Given the description of an element on the screen output the (x, y) to click on. 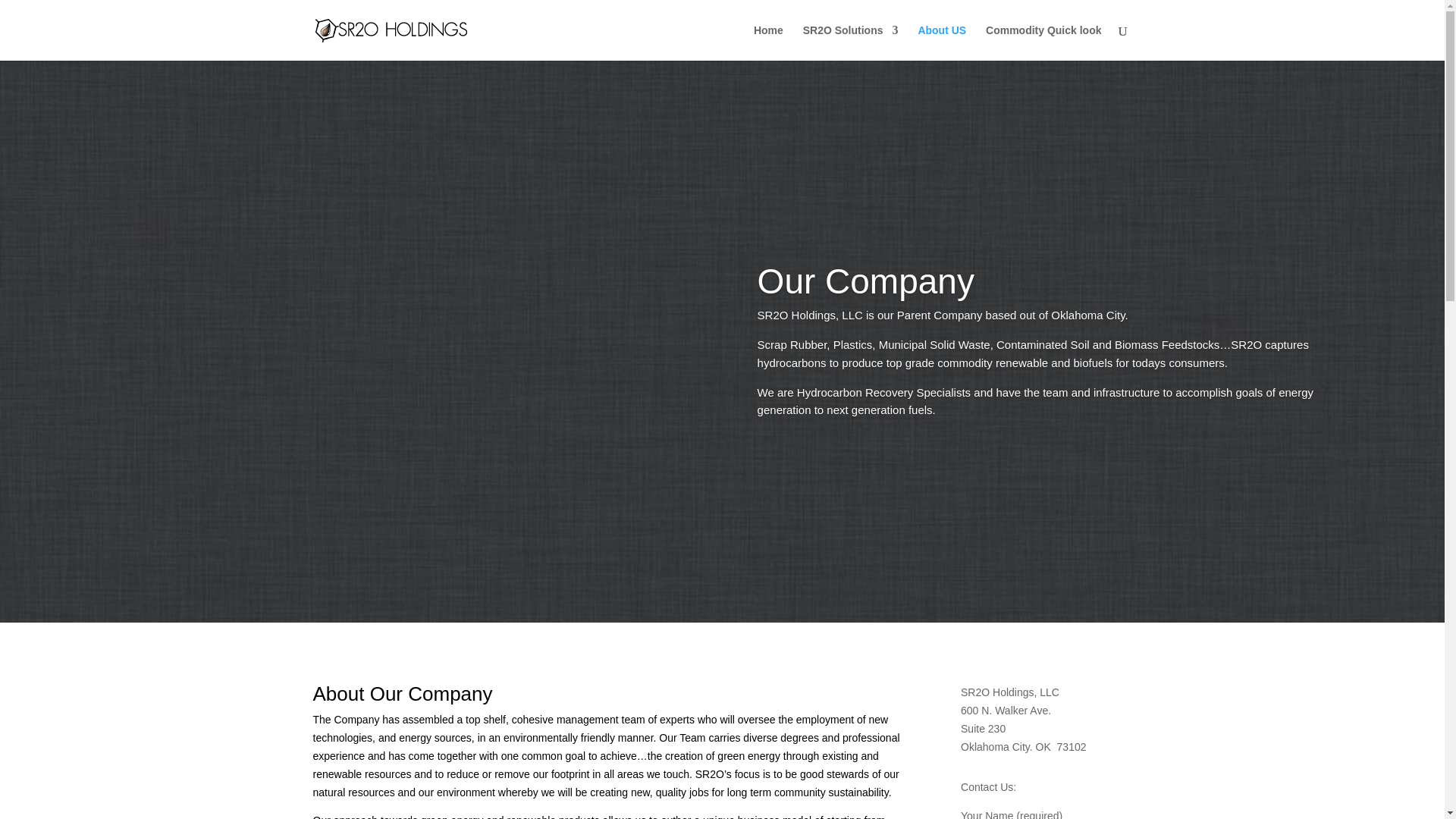
Commodity Quick look (1042, 42)
SR2O Solutions (850, 42)
About US (941, 42)
